Given the description of an element on the screen output the (x, y) to click on. 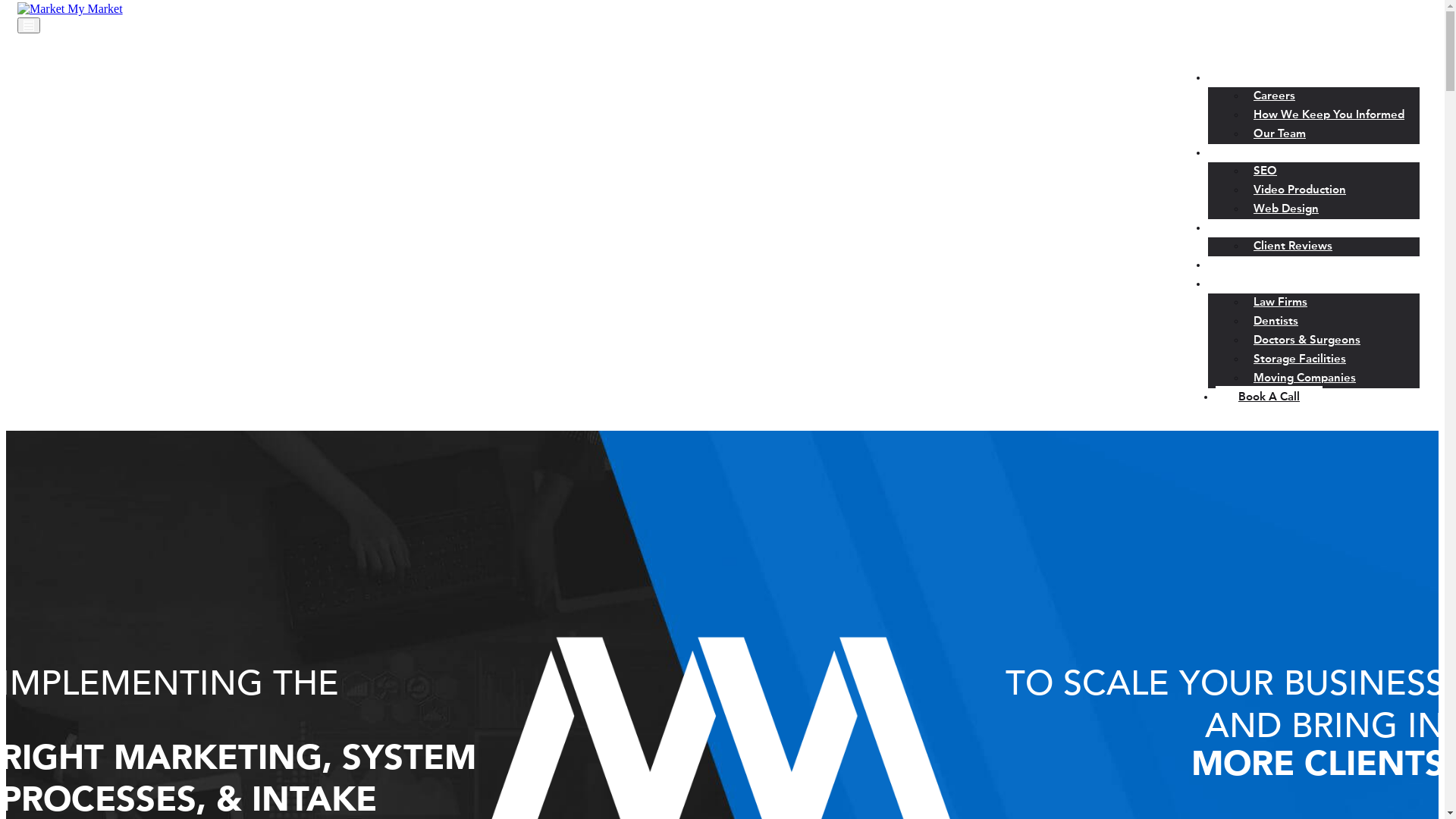
Storage Facilities Element type: text (1299, 359)
Careers Element type: text (1273, 96)
Video Production Element type: text (1299, 190)
Book A Call Element type: text (1268, 397)
Services Element type: text (1237, 153)
About MMM Element type: text (1249, 78)
Dentists Element type: text (1275, 321)
Moving Companies Element type: text (1304, 378)
Who We Work With Element type: text (1269, 284)
Resources Element type: text (1242, 265)
Client Reviews Element type: text (1292, 246)
How We Keep You Informed Element type: text (1328, 115)
800-997-7336 Element type: text (1367, 40)
Our Team Element type: text (1279, 134)
SEO Element type: text (1264, 171)
Web Design Element type: text (1285, 209)
Results Element type: text (1234, 228)
Doctors & Surgeons Element type: text (1306, 340)
Law Firms Element type: text (1279, 302)
